Given the description of an element on the screen output the (x, y) to click on. 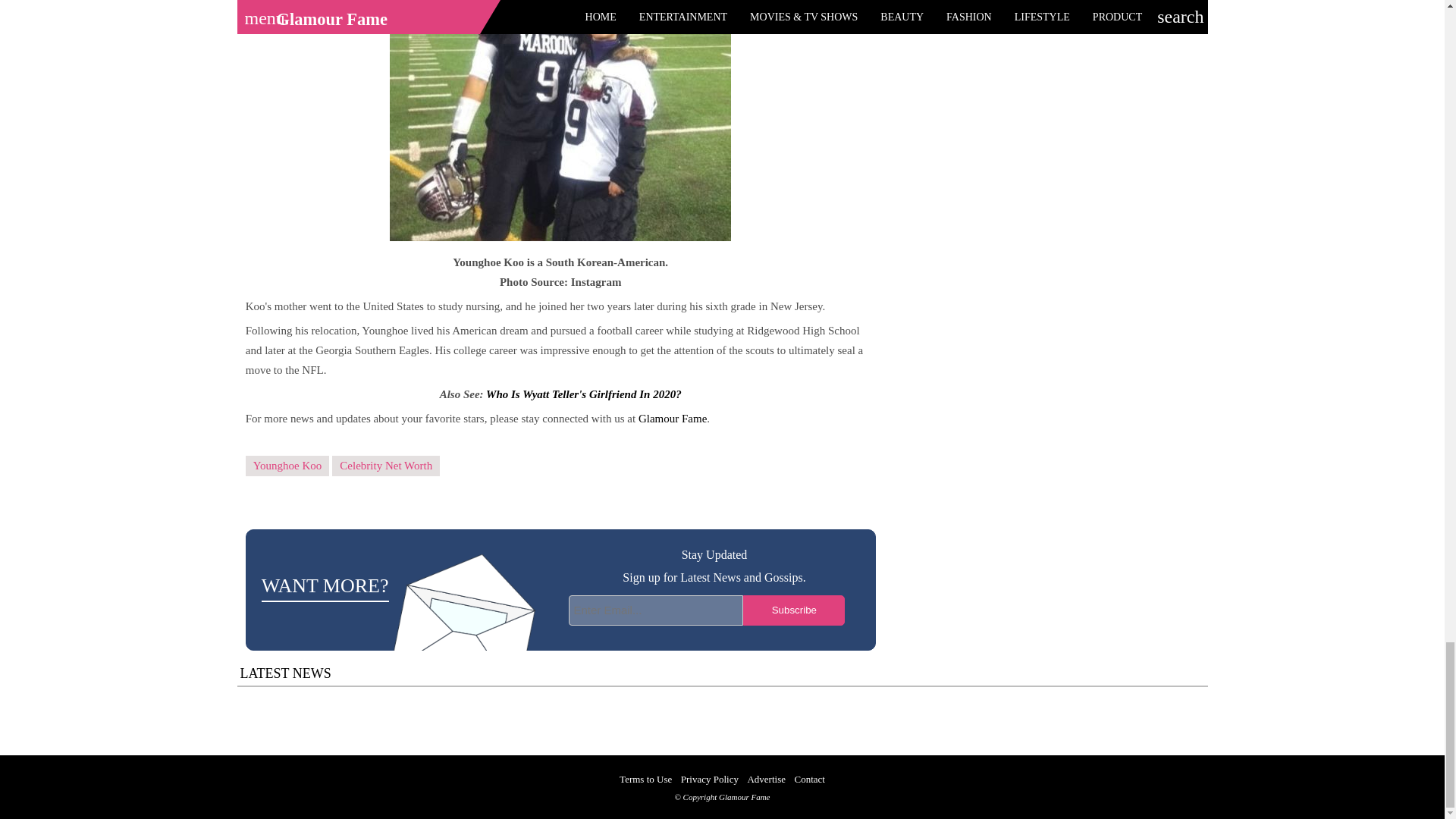
Terms to Use (645, 778)
Celebrity Net Worth (385, 465)
Subscribe (793, 610)
Younghoe Koo (288, 465)
Privacy Policy (709, 778)
Glamour Fame (672, 418)
Who Is Wyatt Teller's Girlfriend In 2020? (583, 394)
